Given the description of an element on the screen output the (x, y) to click on. 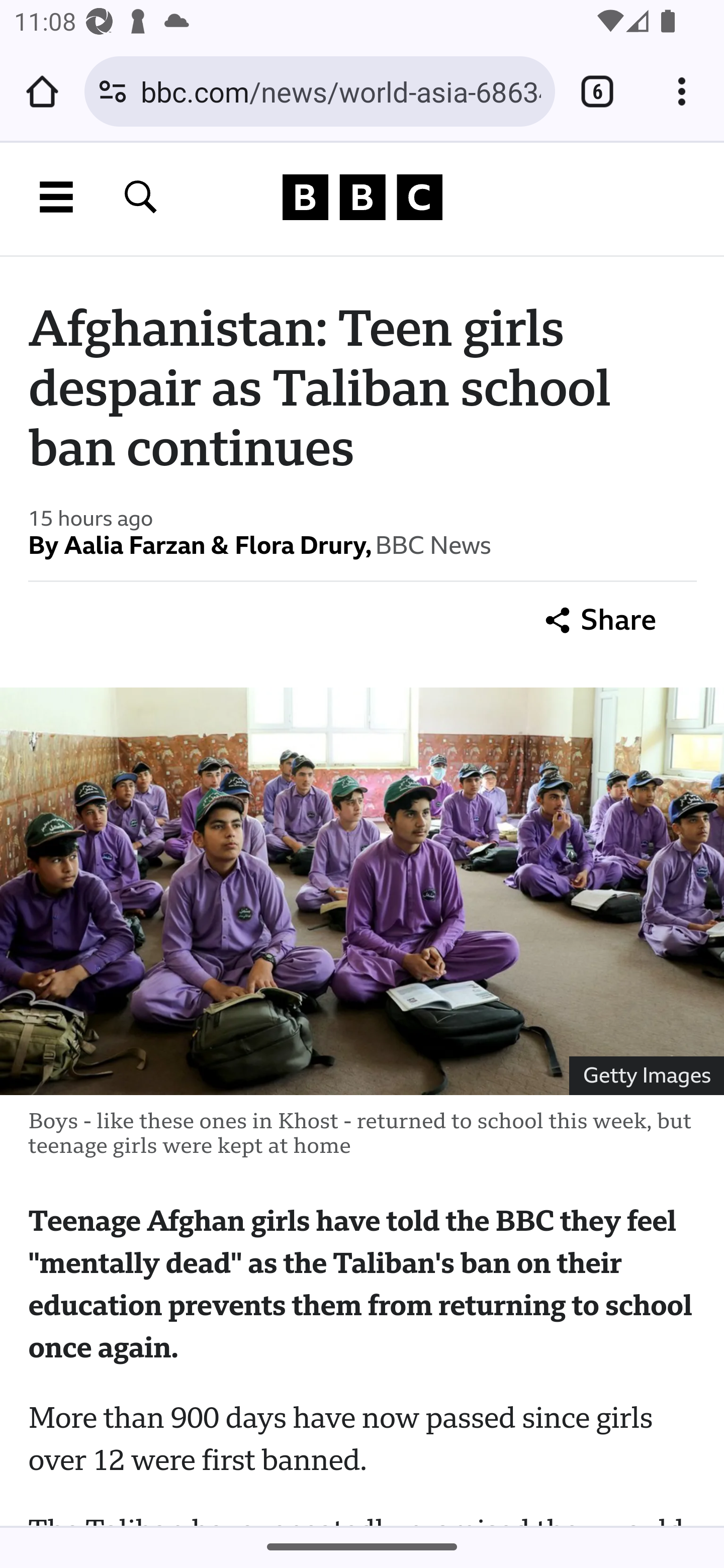
Open the home page (42, 91)
Connection is secure (112, 91)
Switch or close tabs (597, 91)
Customize and control Google Chrome (681, 91)
bbc.com/news/world-asia-68634700 (340, 90)
www.bbc (362, 196)
Share (601, 619)
